Given the description of an element on the screen output the (x, y) to click on. 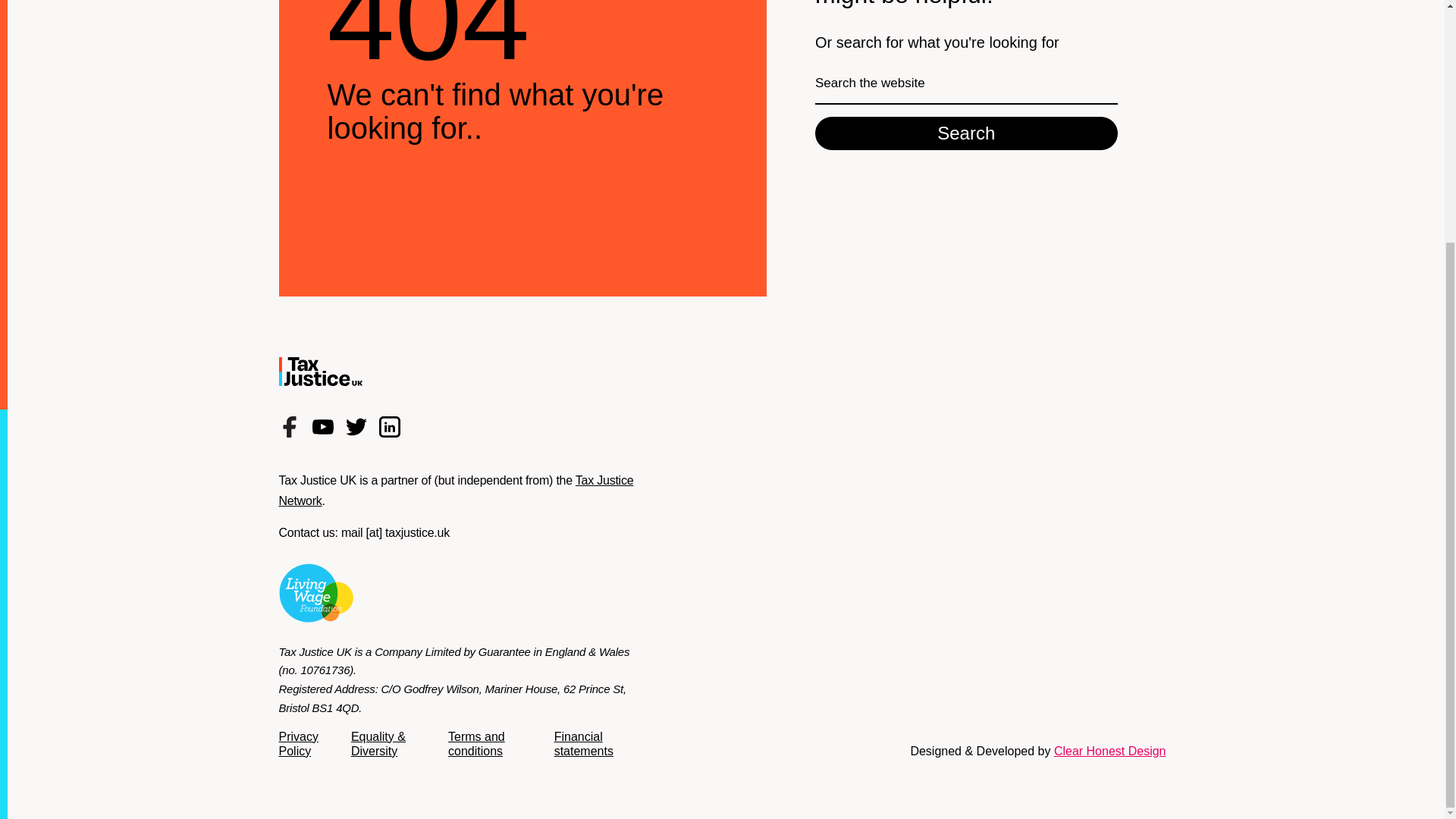
Clear Honest Design (1110, 750)
Financial statements (583, 742)
Search (966, 133)
Tax Justice Network (456, 490)
Terms and conditions (476, 742)
Privacy Policy (298, 742)
